Given the description of an element on the screen output the (x, y) to click on. 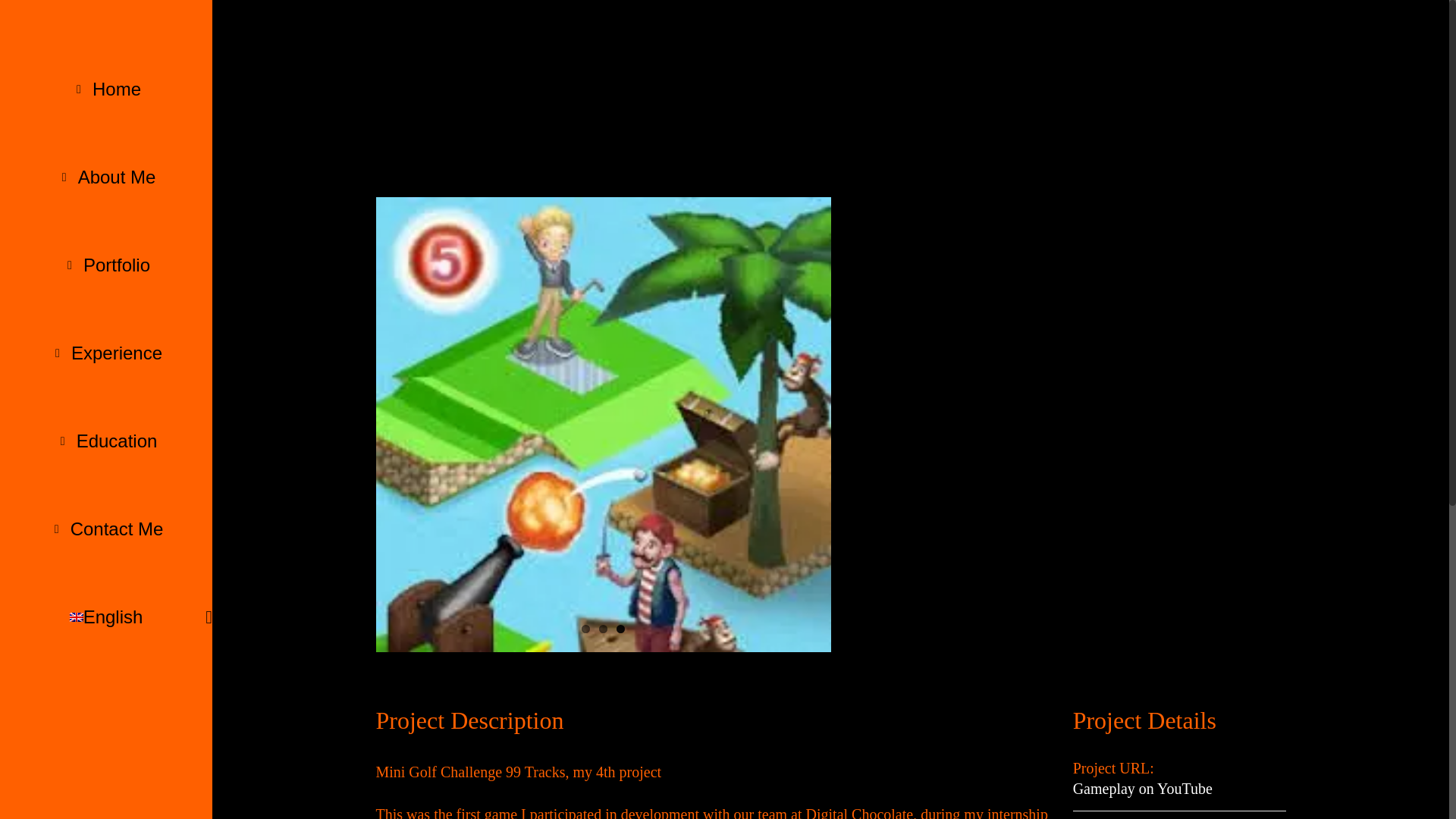
2 (602, 628)
Gameplay on YouTube (1142, 788)
Experience (106, 353)
Portfolio (106, 265)
3 (619, 628)
Home (106, 89)
English (106, 617)
1 (584, 628)
English (106, 617)
Contact Me (106, 529)
About Me (106, 177)
Education (106, 441)
